Given the description of an element on the screen output the (x, y) to click on. 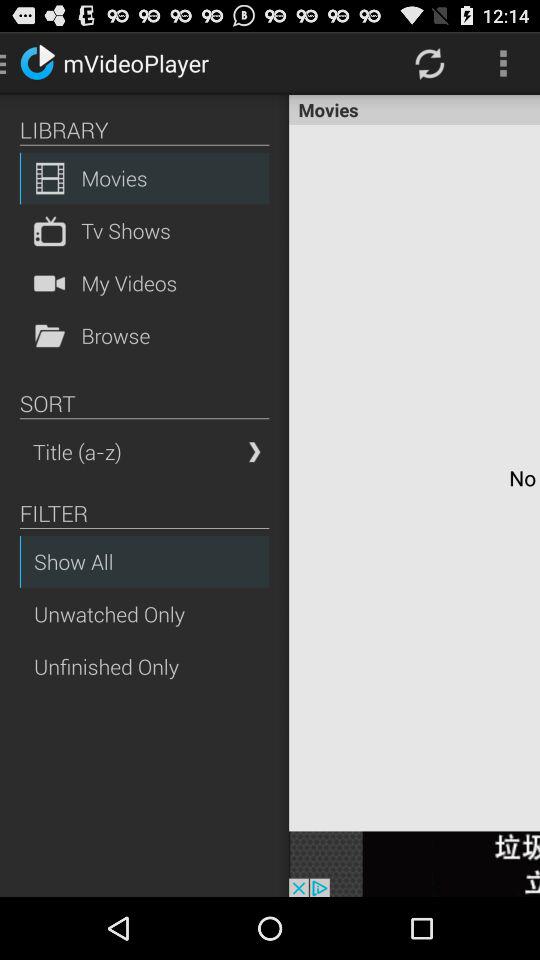
click on the icon left to mvideoplayer (36, 62)
